Given the description of an element on the screen output the (x, y) to click on. 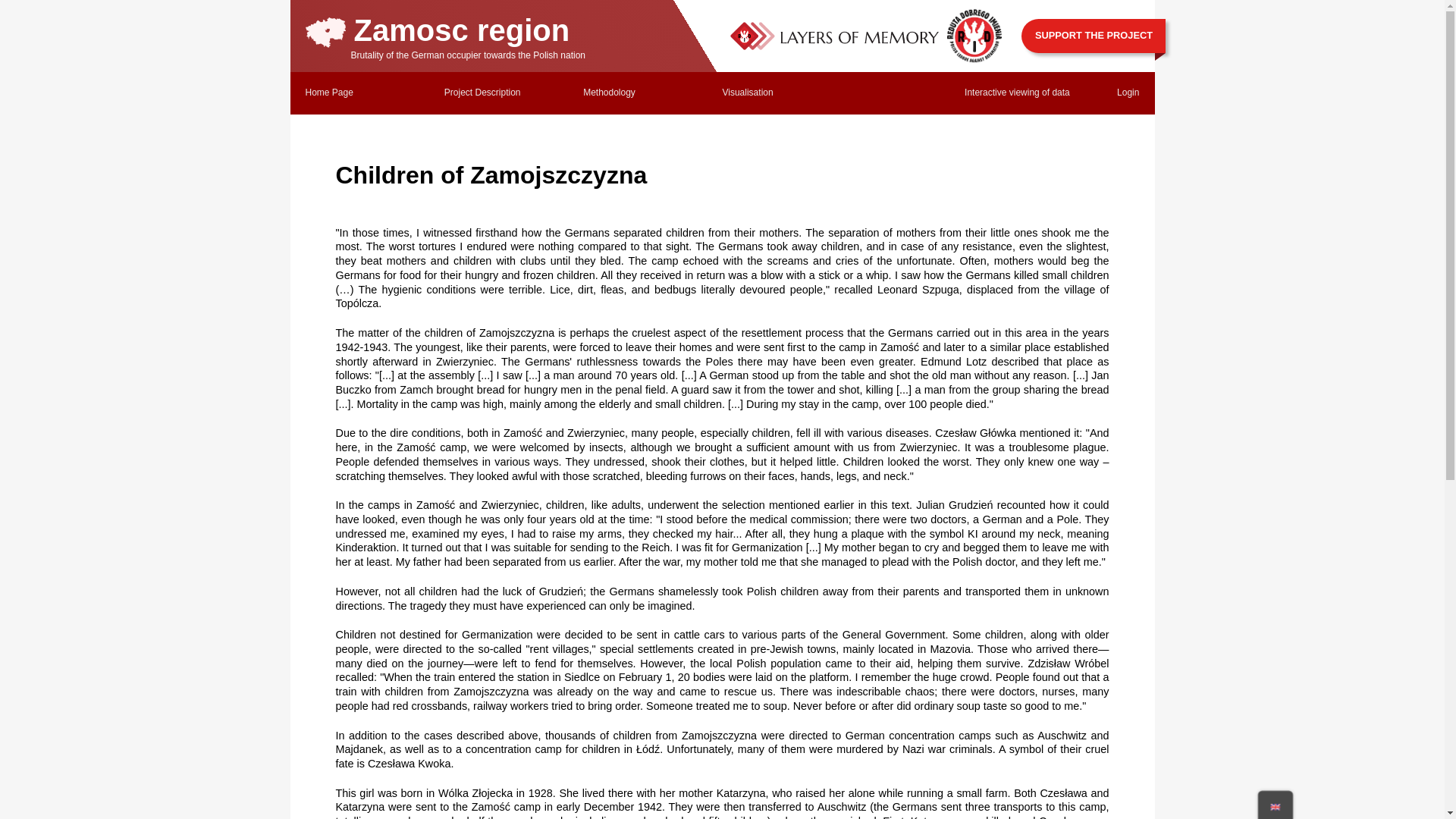
Home Page (328, 91)
Layers of memory (833, 36)
Methodology (608, 91)
 Zamosc region (436, 29)
SUPPORT THE PROJECT (1094, 34)
Login (1127, 91)
REDUTAlogo tradycyjneSmall (974, 35)
Visualisation (747, 91)
English (1276, 808)
Project Description (482, 91)
Interactive viewing of data (1016, 91)
